Given the description of an element on the screen output the (x, y) to click on. 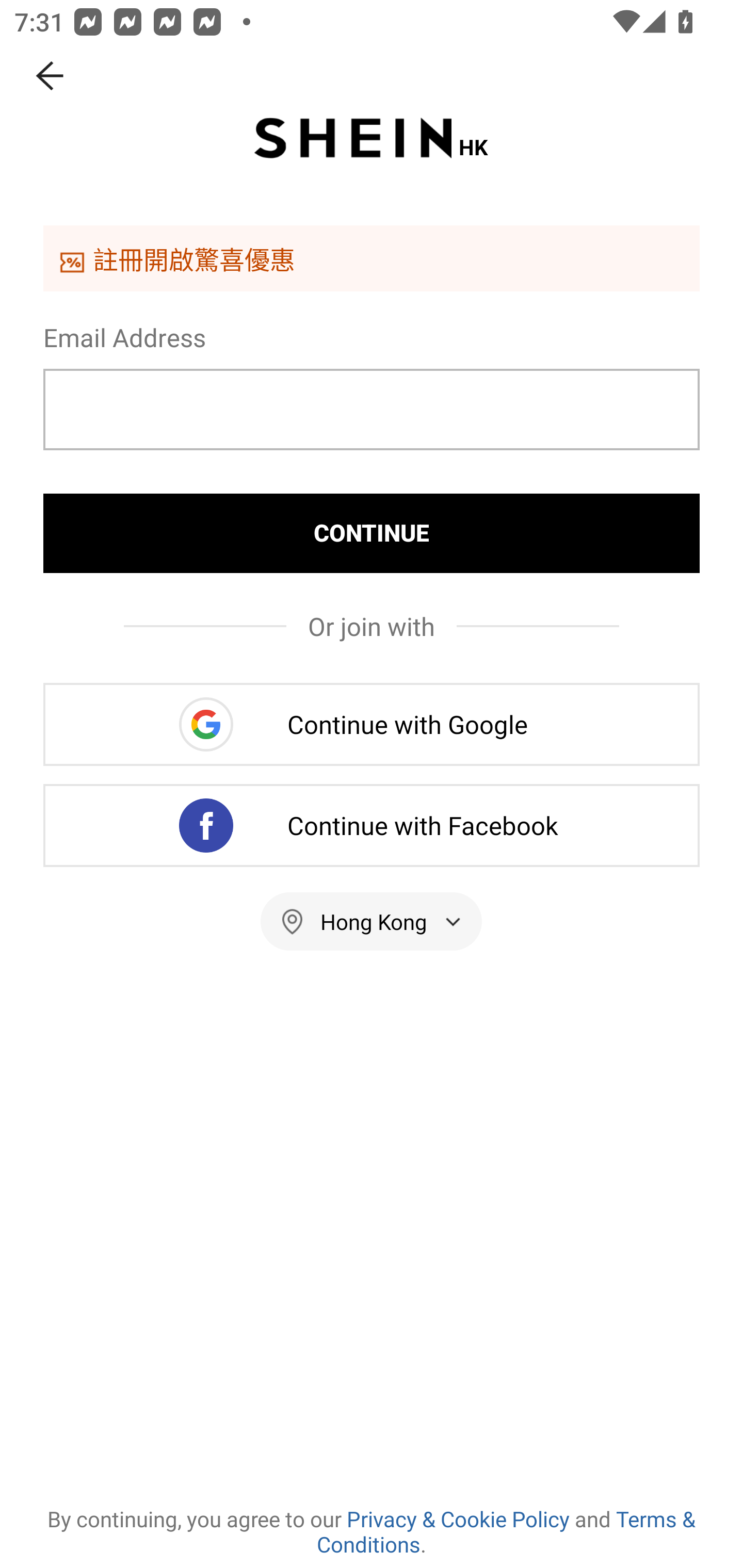
CLOSE (50, 75)
CONTINUE (371, 532)
Continue with Google (371, 724)
Continue with Facebook (371, 825)
Hong Kong (371, 921)
